Given the description of an element on the screen output the (x, y) to click on. 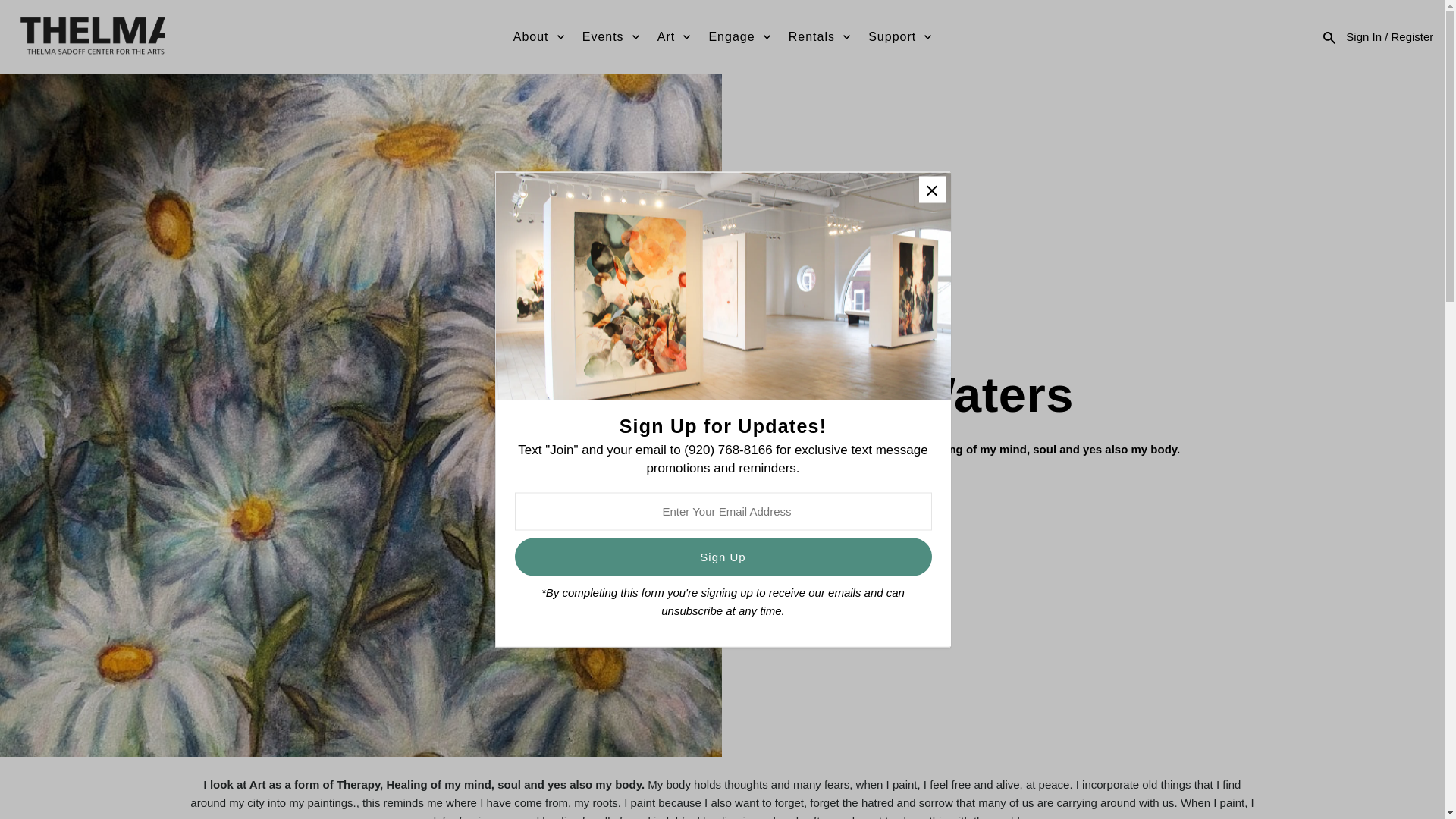
Sign Up (722, 557)
Events (610, 36)
Art (673, 36)
About (538, 36)
